Given the description of an element on the screen output the (x, y) to click on. 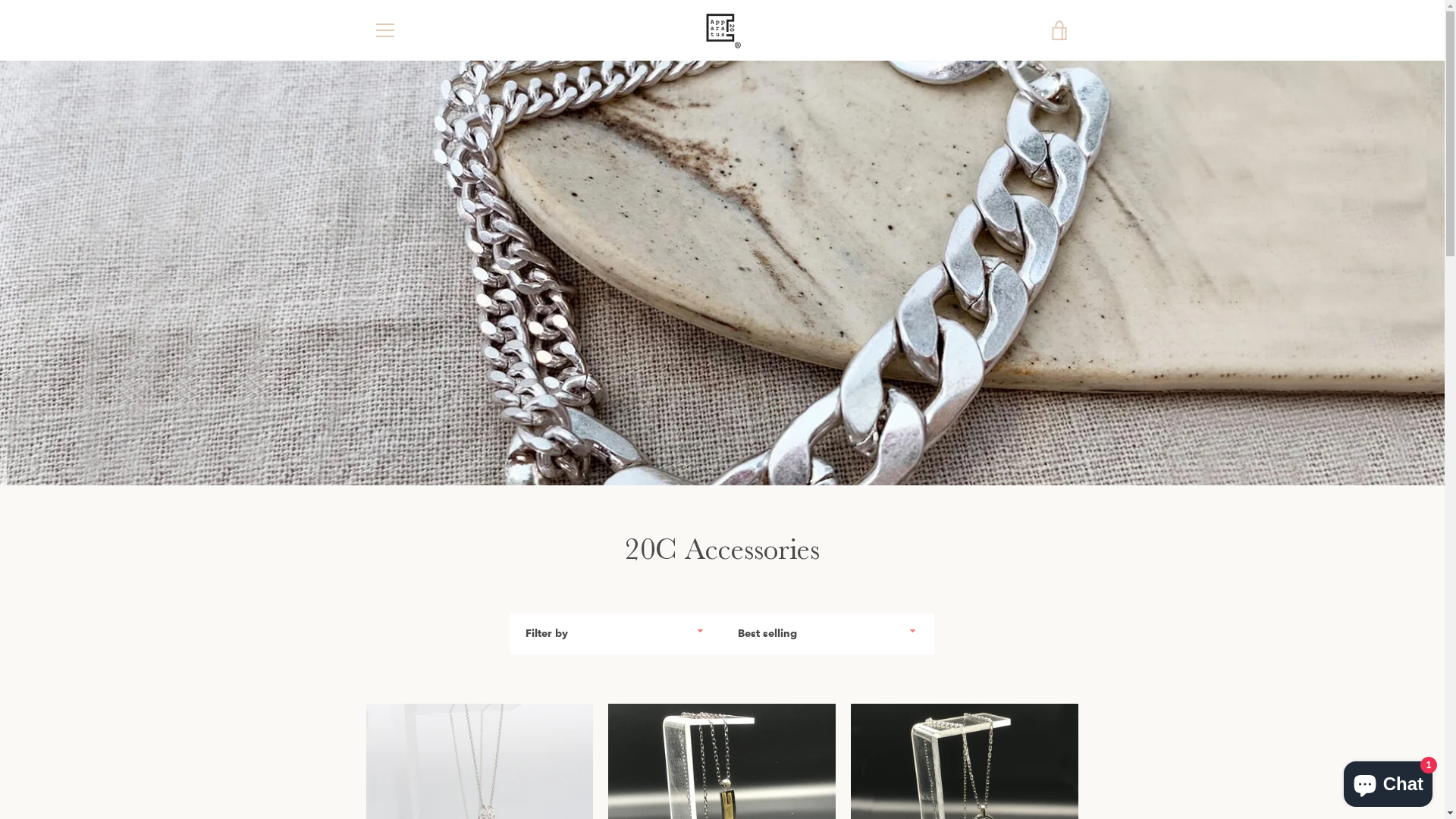
PRIVACY POLICY Element type: text (416, 674)
ACCESSORIES Q&A Element type: text (421, 585)
TERMS OF SERVICE Element type: text (421, 696)
MENU Element type: text (384, 30)
Twitter Element type: text (398, 765)
Skip to content Element type: text (0, 0)
SEARCH Element type: text (393, 496)
VIEW CART Element type: text (1059, 30)
PAYMENT METHOD Element type: text (421, 607)
Facebook Element type: text (372, 765)
ABOUT US Element type: text (399, 518)
FIND US Element type: text (393, 563)
SHIPPING Element type: text (398, 630)
REFUND POLICY Element type: text (414, 652)
SUBSCRIBE Element type: text (1031, 564)
Shopify online store chat Element type: hover (1388, 780)
20C Apparatus Element type: text (763, 766)
CONTACT US Element type: text (406, 540)
Instagram Element type: text (450, 765)
Pinterest Element type: text (424, 765)
